Given the description of an element on the screen output the (x, y) to click on. 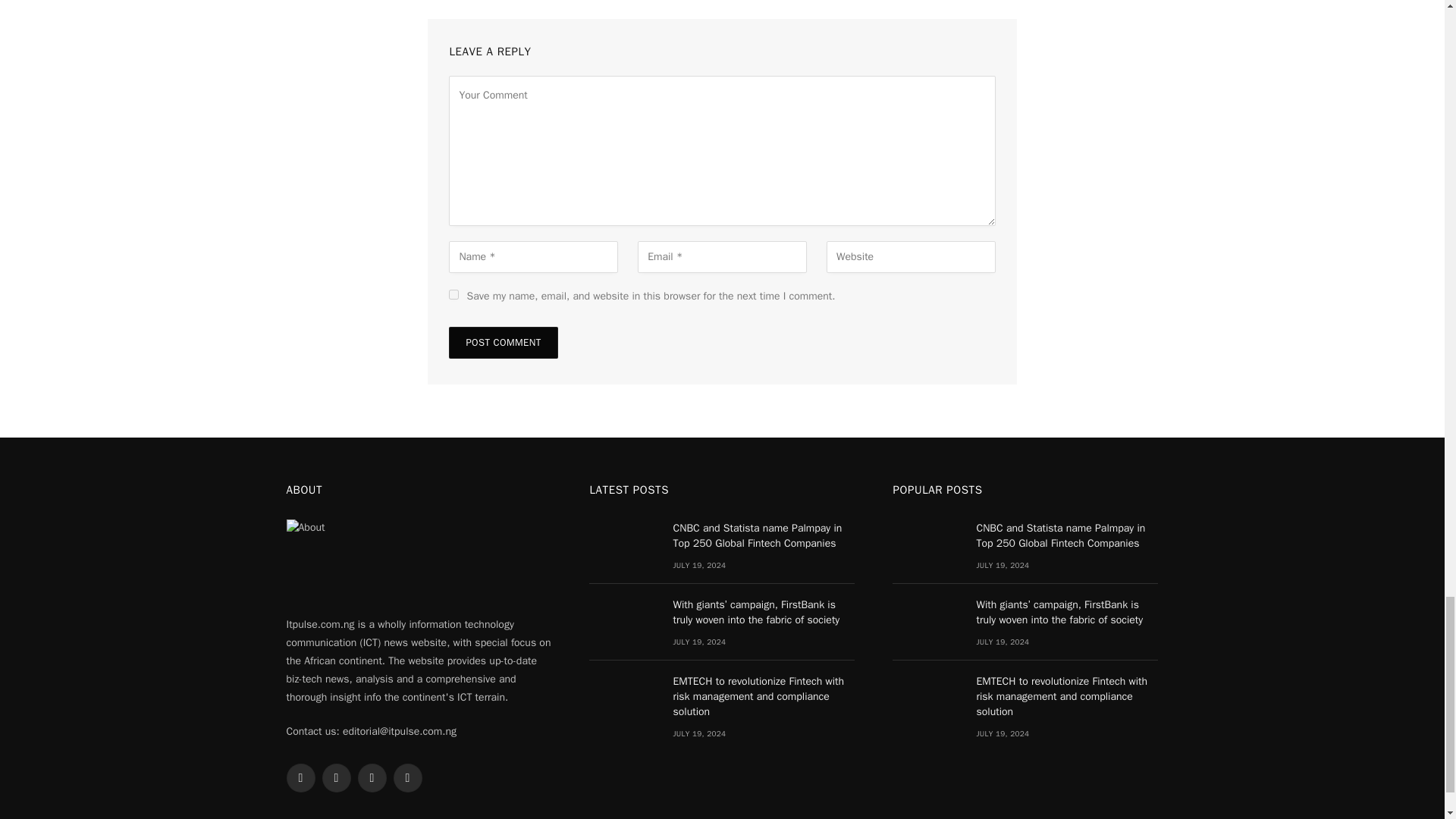
yes (453, 294)
Post Comment (502, 342)
